Given the description of an element on the screen output the (x, y) to click on. 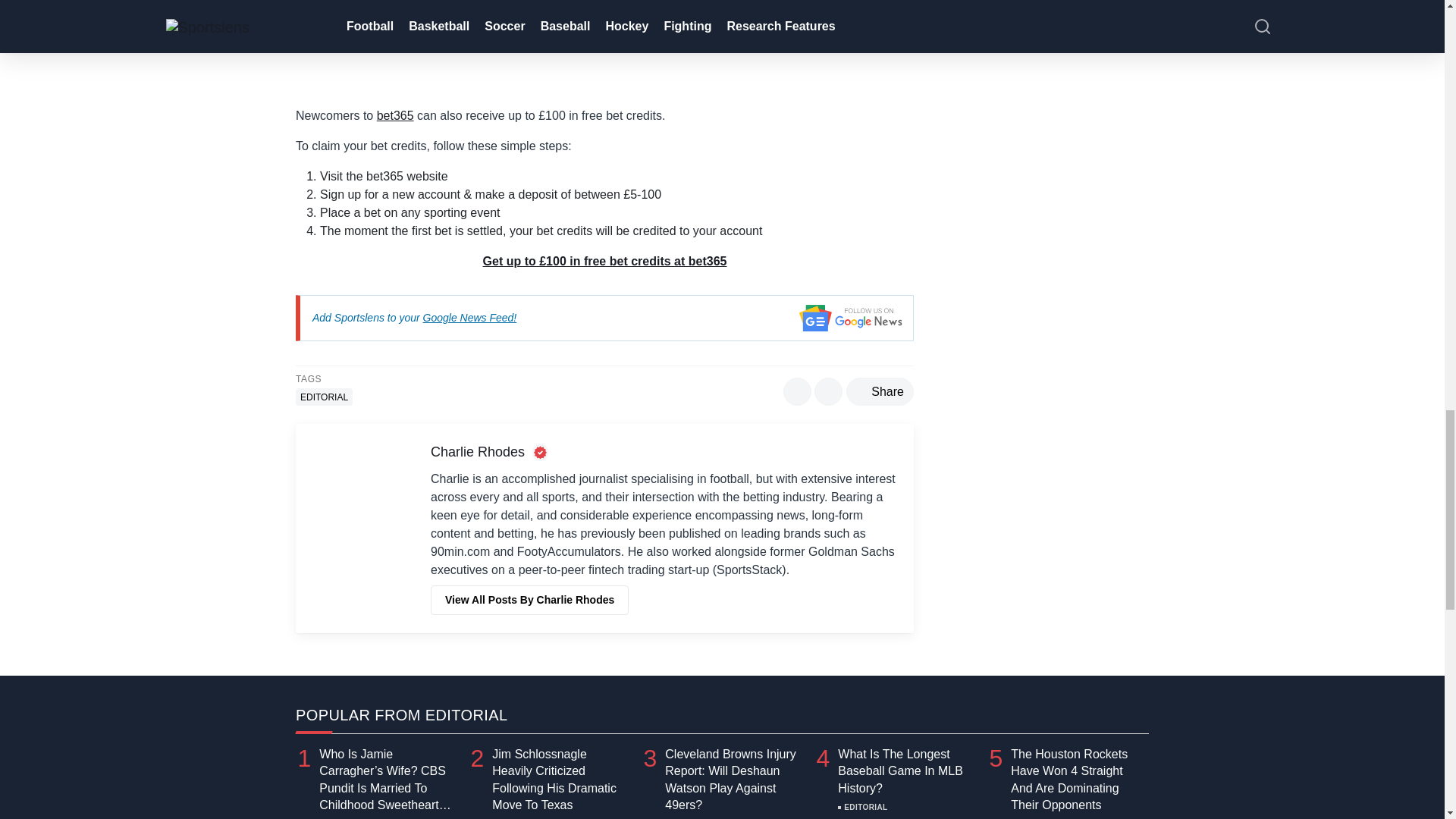
Share (879, 391)
EDITORIAL (323, 396)
Screenshot 2021 09 17 at 11.43.44 (604, 47)
Google News Feed! (469, 317)
bet365 (395, 115)
